Given the description of an element on the screen output the (x, y) to click on. 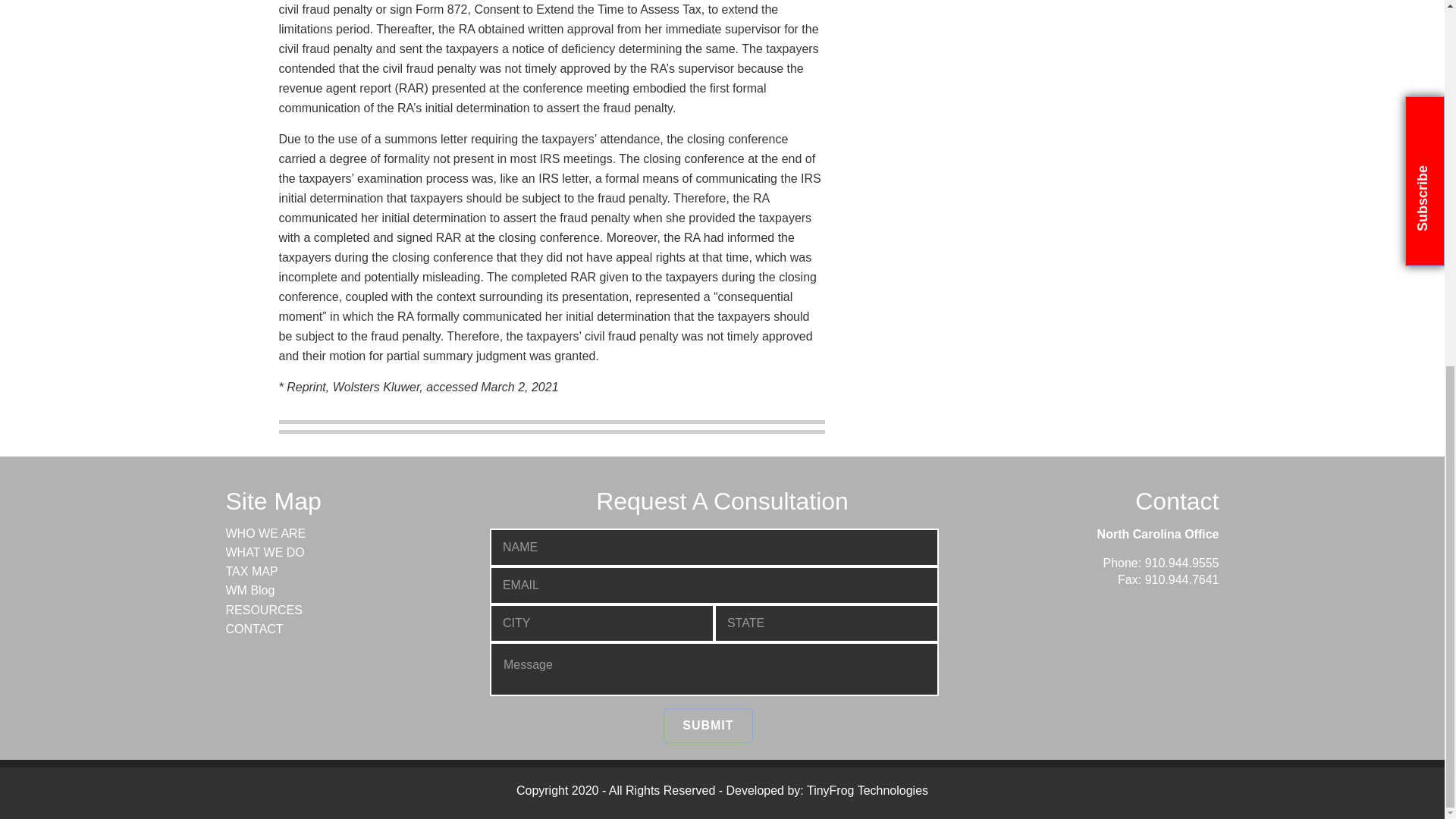
WHAT WE DO (264, 552)
TinyFrog Technologies (867, 789)
RESOURCES (263, 609)
CONTACT (254, 628)
WHO WE ARE (265, 533)
Submit (707, 725)
TAX MAP (251, 571)
Submit (707, 725)
WM Blog (250, 590)
